Given the description of an element on the screen output the (x, y) to click on. 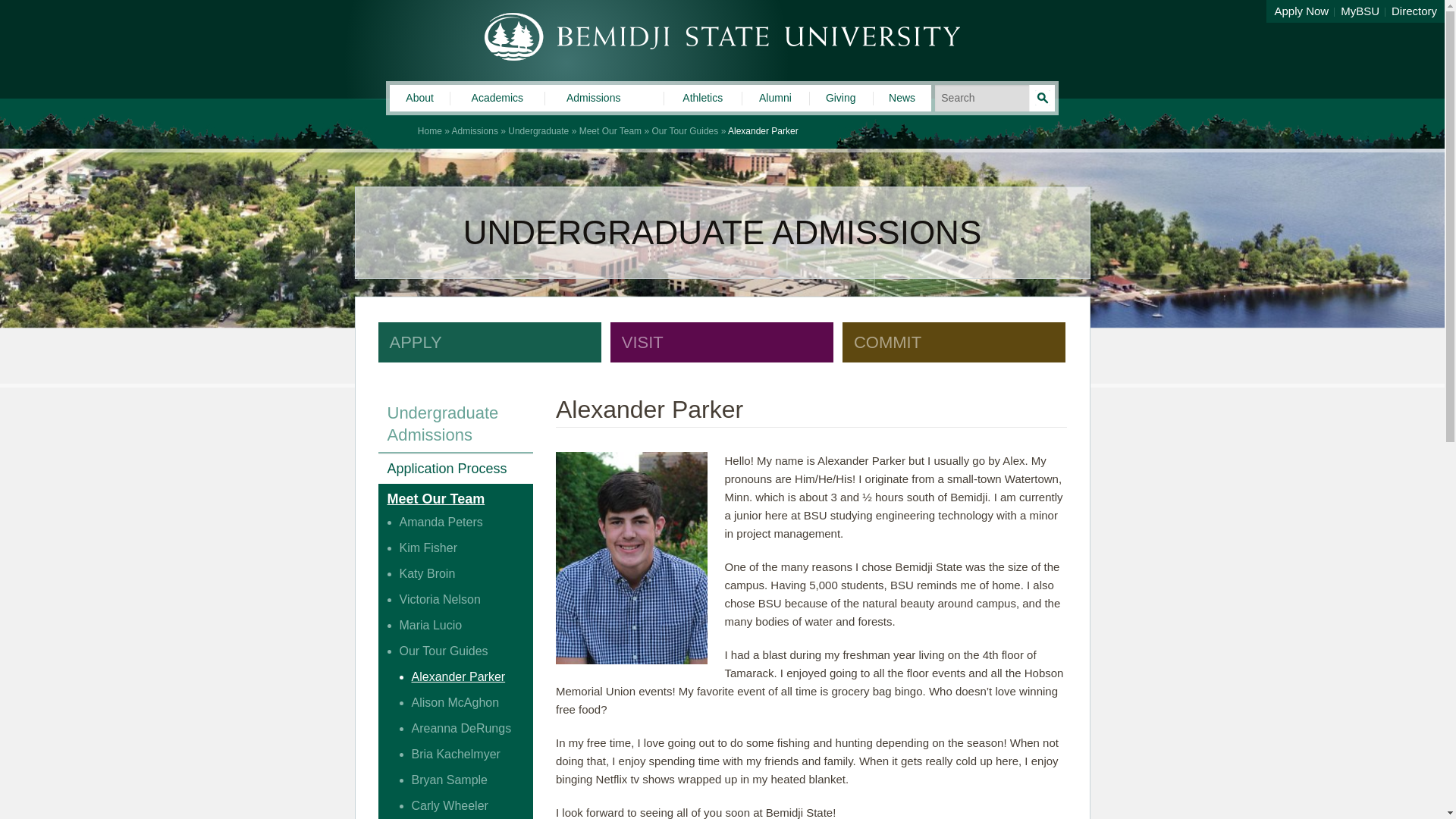
Search (1041, 98)
Meet Our Team (610, 131)
Academics (496, 100)
Undergraduate (538, 131)
Admissions (593, 100)
Athletics (702, 100)
Bemidji State University (721, 36)
Search (1041, 98)
Search for: (994, 98)
About (419, 100)
Our Tour Guides (683, 131)
